Given the description of an element on the screen output the (x, y) to click on. 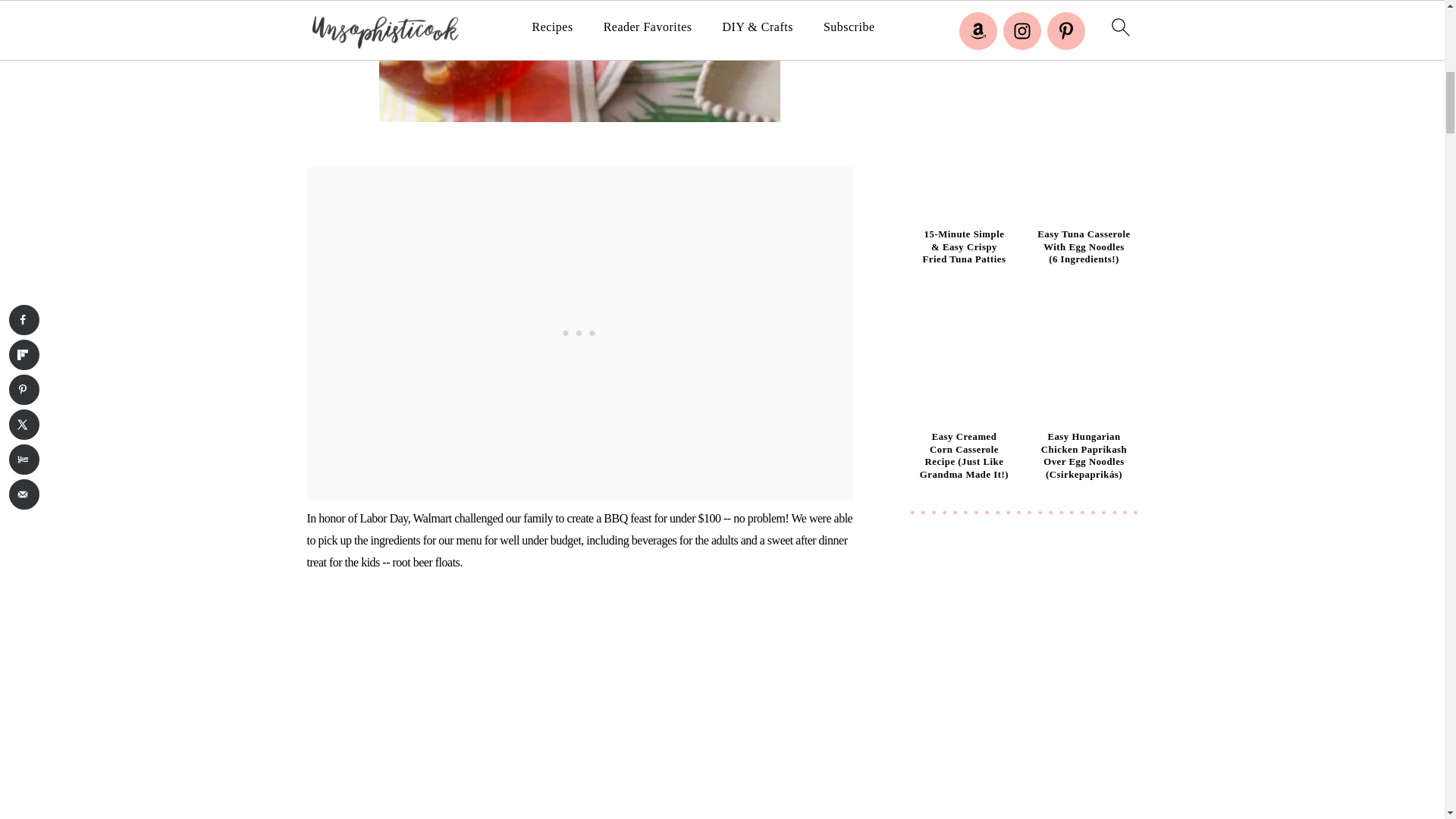
Labor Day Tablescape (579, 61)
